Given the description of an element on the screen output the (x, y) to click on. 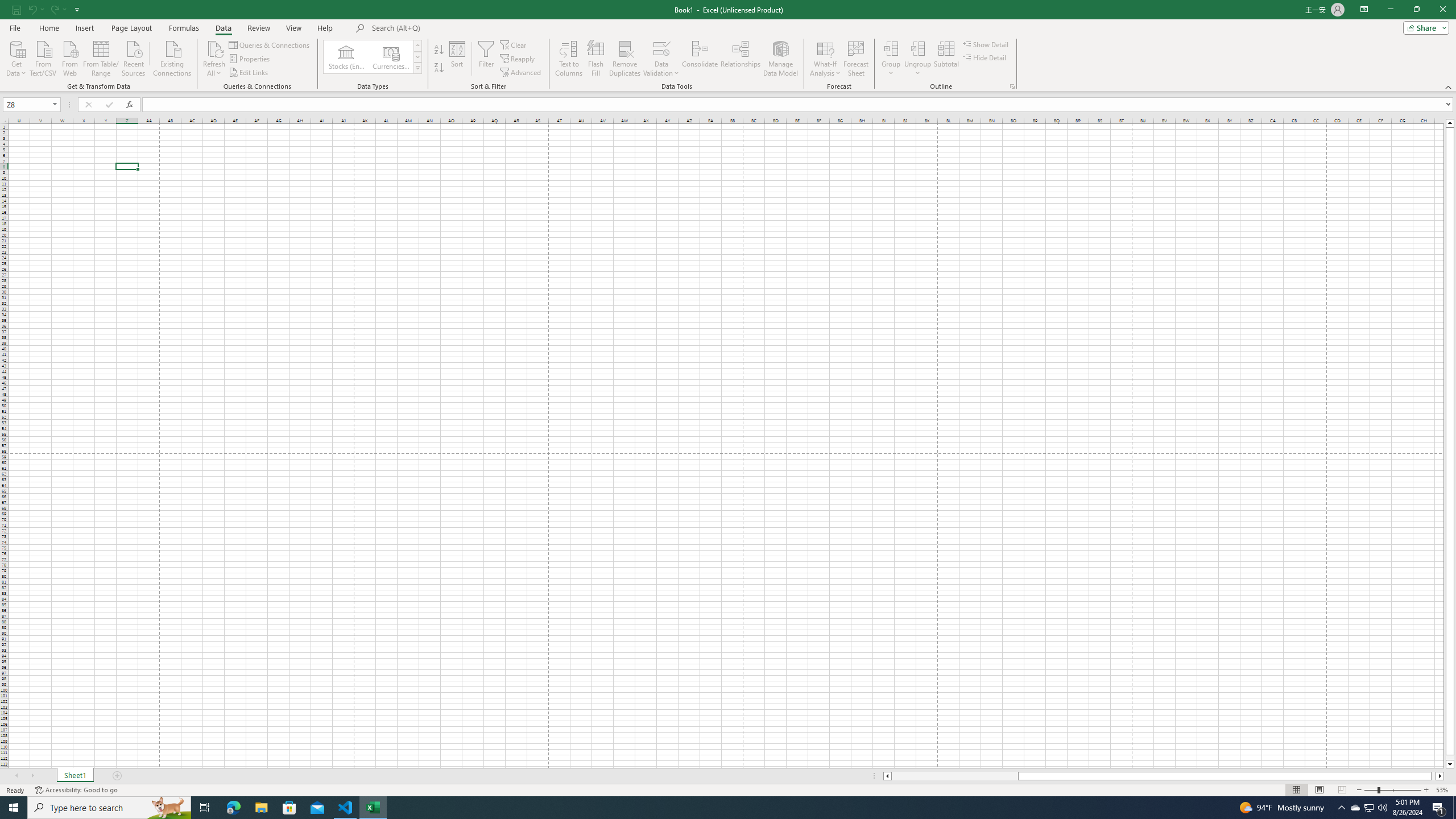
Scroll Left (16, 775)
Class: NetUIScrollBar (1163, 775)
AutomationID: ConvertToLinkedEntity (372, 56)
Currencies (English) (390, 56)
Reapply (517, 58)
View (293, 28)
Sort A to Z (438, 49)
Hide Detail (985, 56)
Existing Connections (171, 57)
From Text/CSV (43, 57)
Minimize (1390, 9)
